Given the description of an element on the screen output the (x, y) to click on. 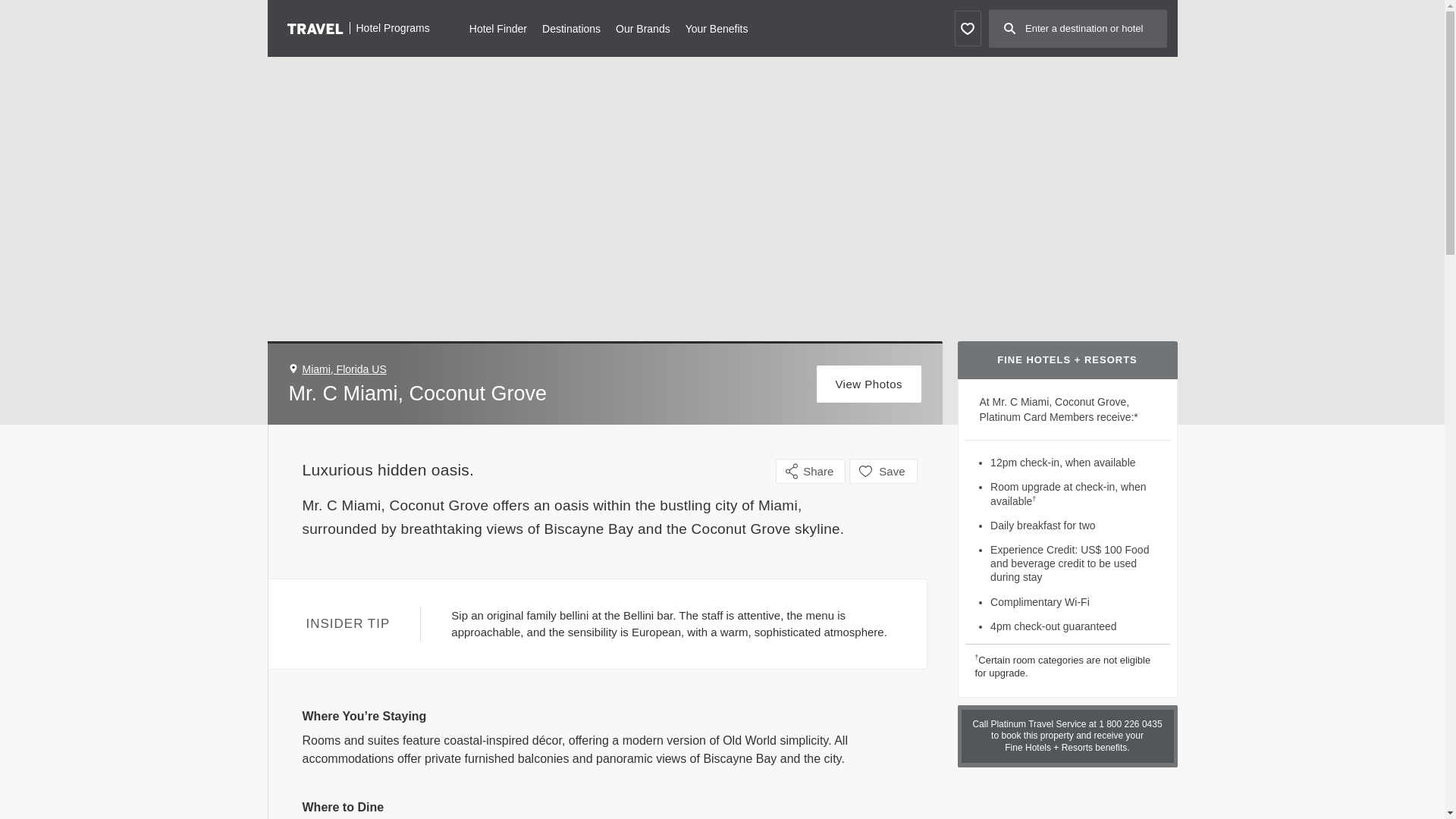
Miami, Florida US (343, 369)
Our Brands (642, 27)
Save (882, 471)
View Photos (868, 383)
Share (810, 471)
Your Benefits (716, 27)
Hotel Programs (357, 27)
Destinations (570, 27)
Hotel Finder (497, 27)
